Given the description of an element on the screen output the (x, y) to click on. 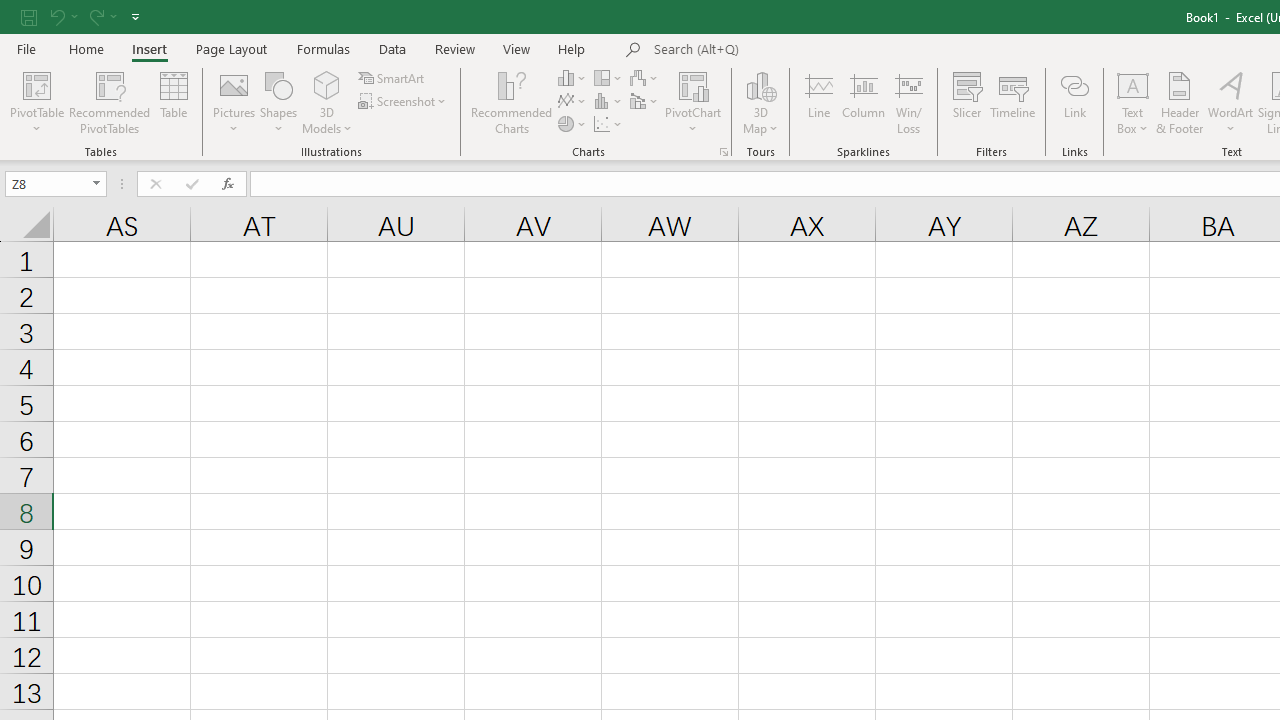
Insert Combo Chart (645, 101)
Shapes (278, 102)
Home (86, 48)
Recommended PivotTables (109, 102)
3D Map (760, 84)
Insert Hierarchy Chart (609, 78)
3D Models (326, 84)
SmartArt... (392, 78)
WordArt (1230, 102)
Link (1074, 102)
